Given the description of an element on the screen output the (x, y) to click on. 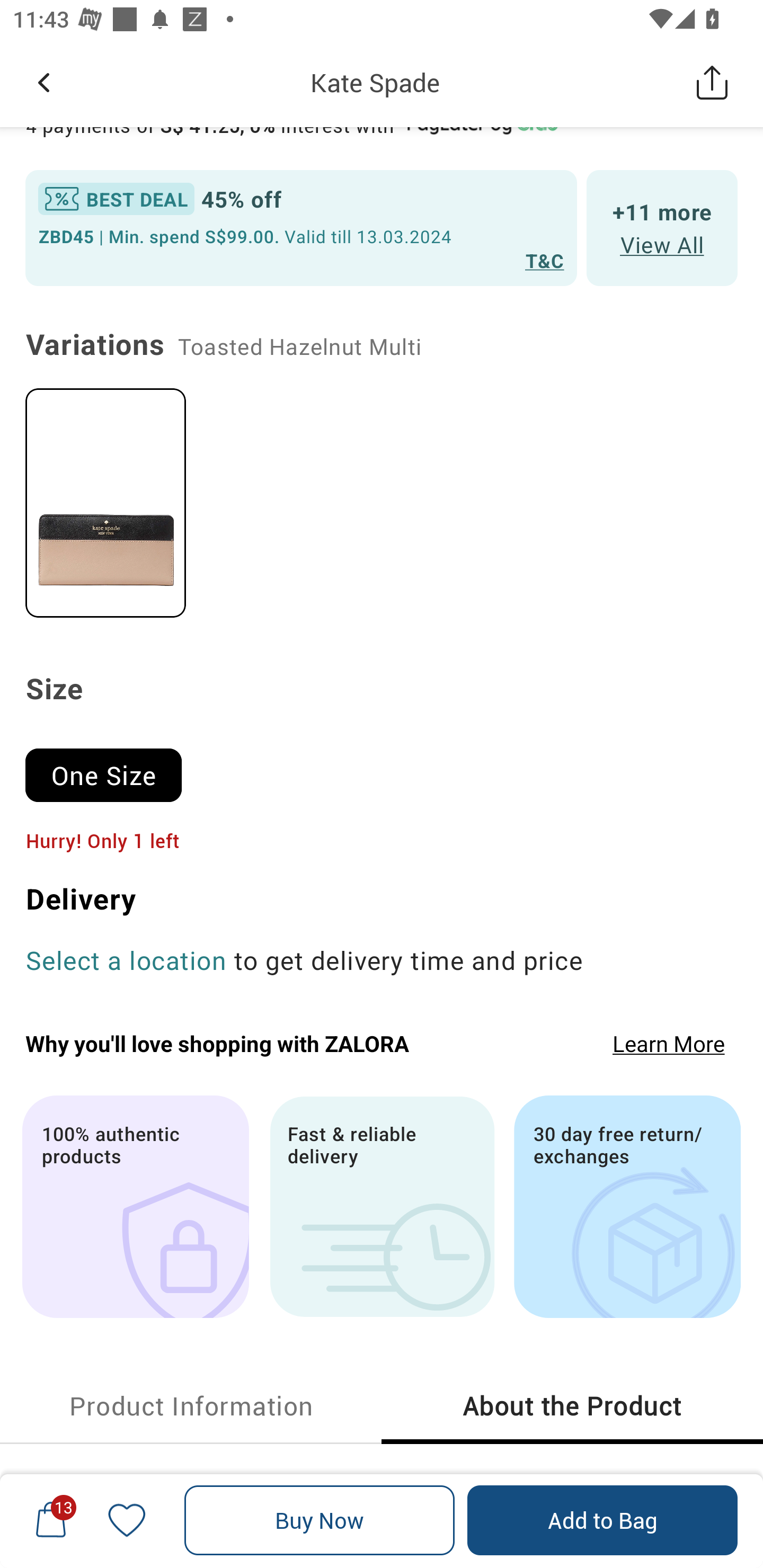
Kate Spade (375, 82)
Share this Product (711, 82)
+11 more
View All (661, 227)
T&C (544, 259)
One Size (111, 767)
Learn More (668, 1043)
100% authentic products (135, 1206)
Fast & reliable delivery (381, 1206)
30 day free return/exchanges (627, 1206)
Product Information (190, 1405)
Buy Now (319, 1519)
Add to Bag (601, 1519)
13 (50, 1520)
